Given the description of an element on the screen output the (x, y) to click on. 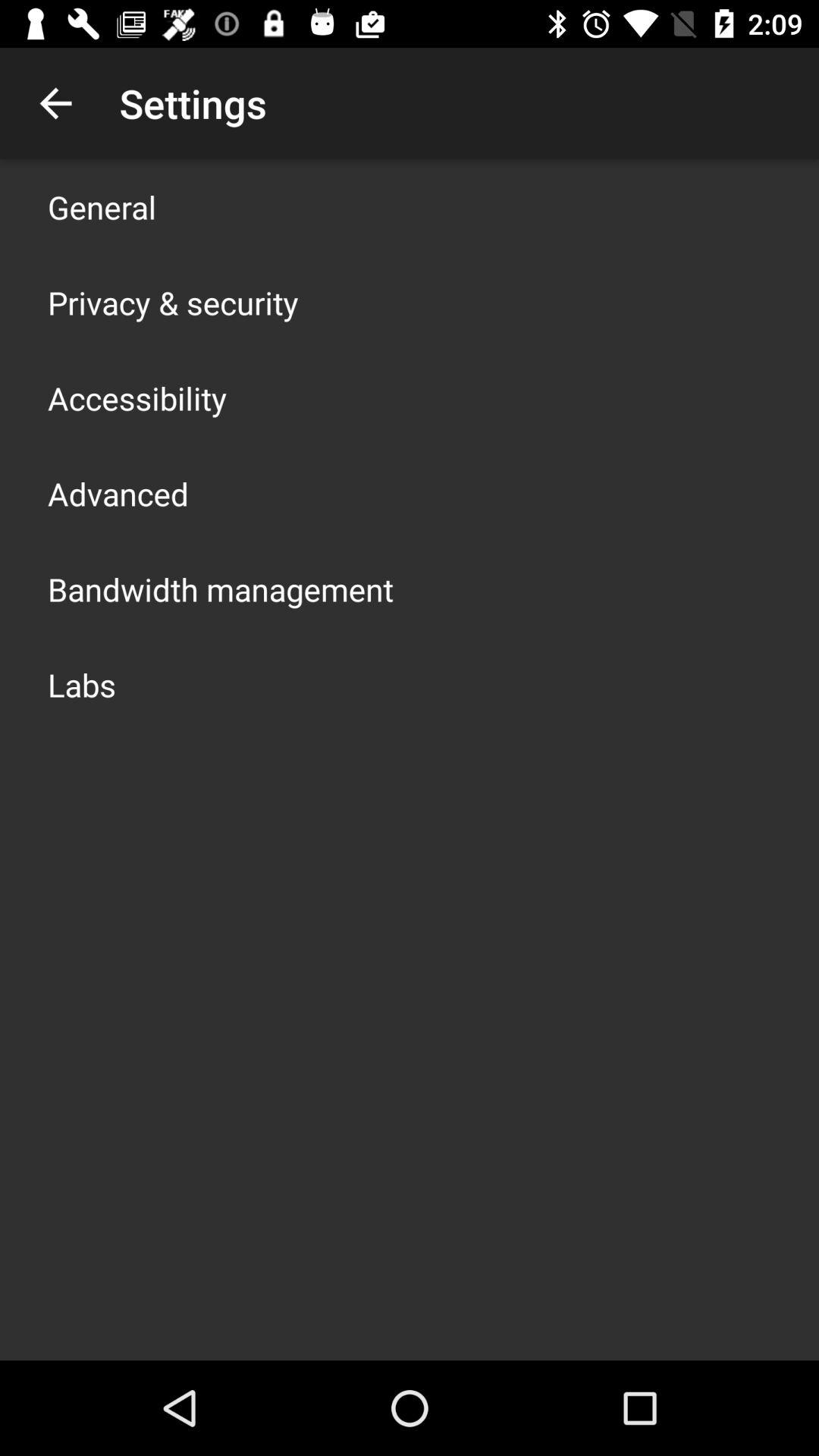
click the item below the privacy & security app (136, 397)
